Given the description of an element on the screen output the (x, y) to click on. 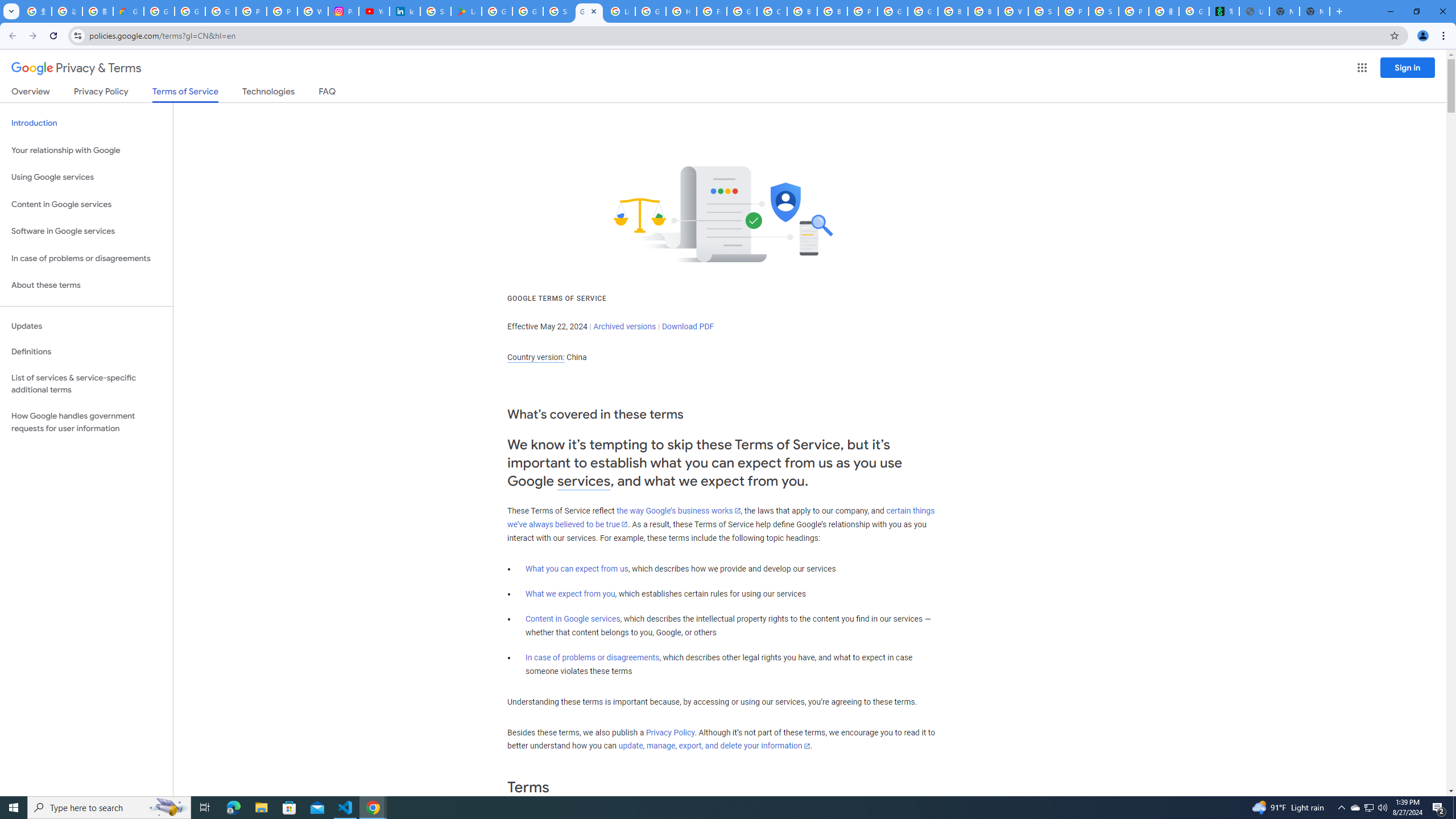
Google Cloud Platform (922, 11)
Software in Google services (86, 230)
Sign in - Google Accounts (1042, 11)
Browse Chrome as a guest - Computer - Google Chrome Help (952, 11)
